Given the description of an element on the screen output the (x, y) to click on. 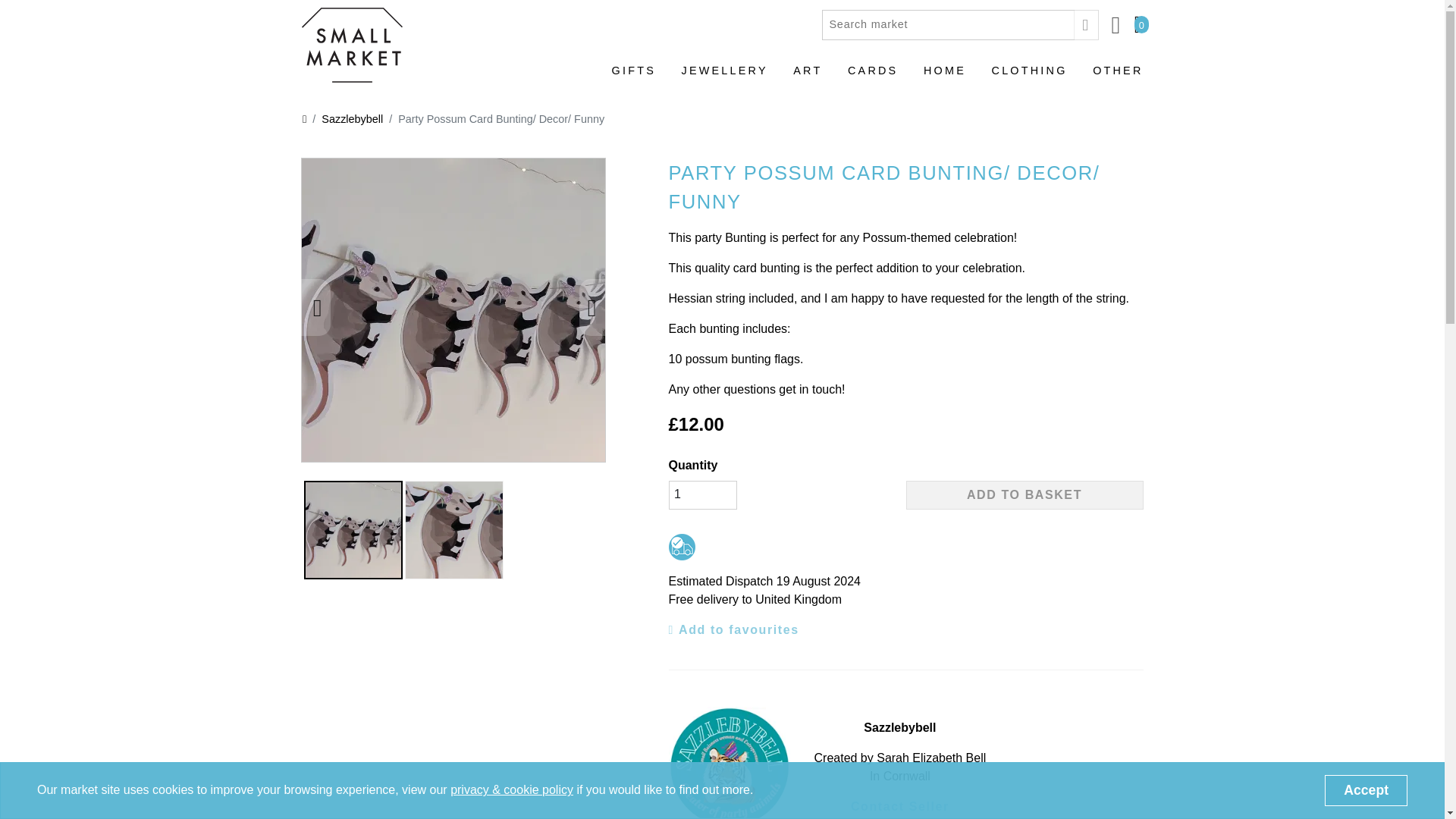
ADD TO BASKET (1023, 494)
1 (702, 494)
CLOTHING (1029, 77)
Contact Seller (900, 806)
Sazzlebybell (343, 119)
Free delivery to United Kingdom (681, 546)
OTHER (1117, 77)
ART (807, 77)
Add to favourites (733, 629)
JEWELLERY (724, 77)
